Given the description of an element on the screen output the (x, y) to click on. 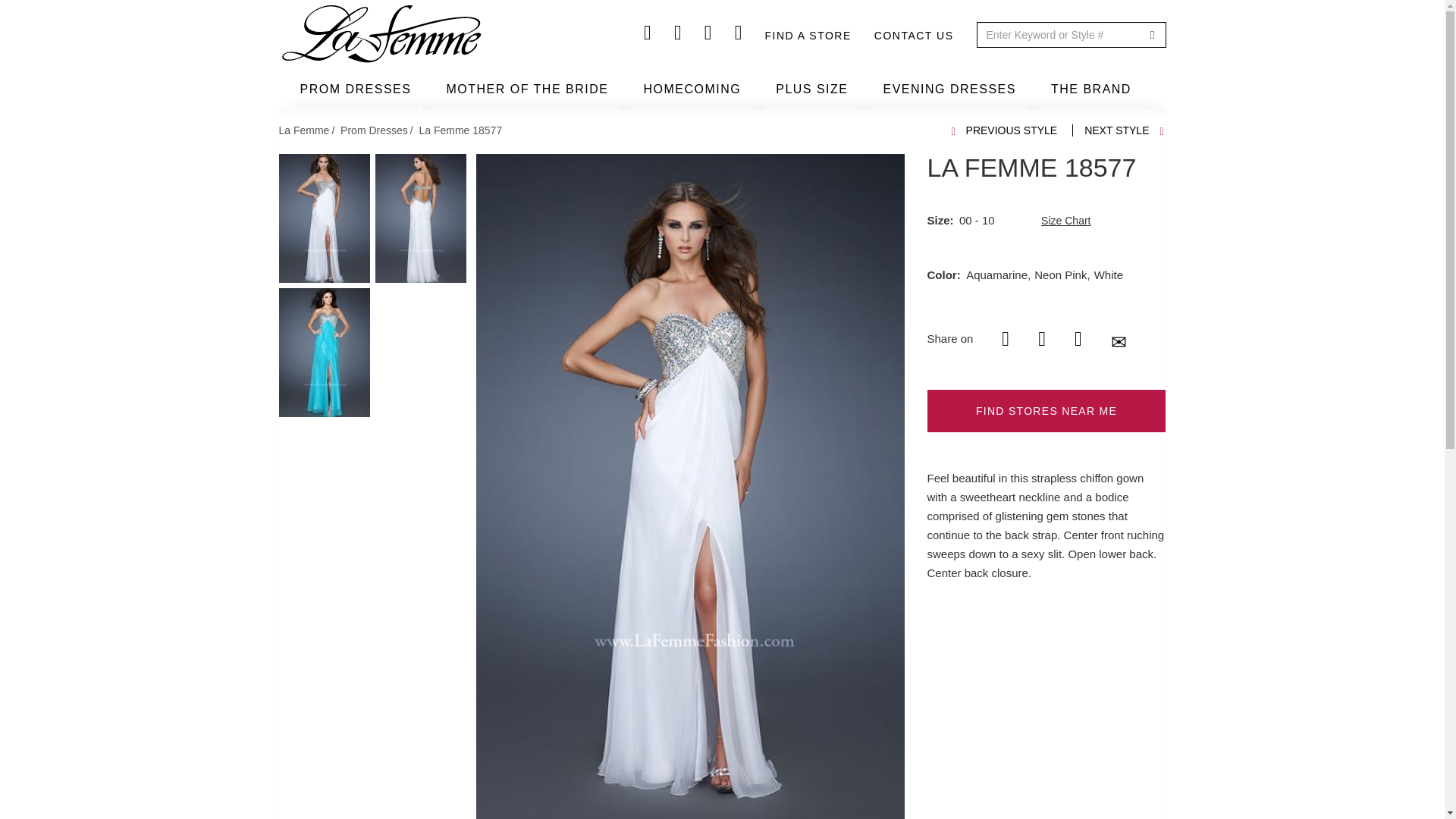
PLUS SIZE (811, 89)
THE BRAND (1091, 89)
Home (382, 34)
CONTACT US (914, 36)
EVENING DRESSES (949, 89)
MOTHER OF THE BRIDE (526, 89)
HOMECOMING (692, 89)
FIND A STORE (808, 36)
PROM DRESSES (355, 89)
